Given the description of an element on the screen output the (x, y) to click on. 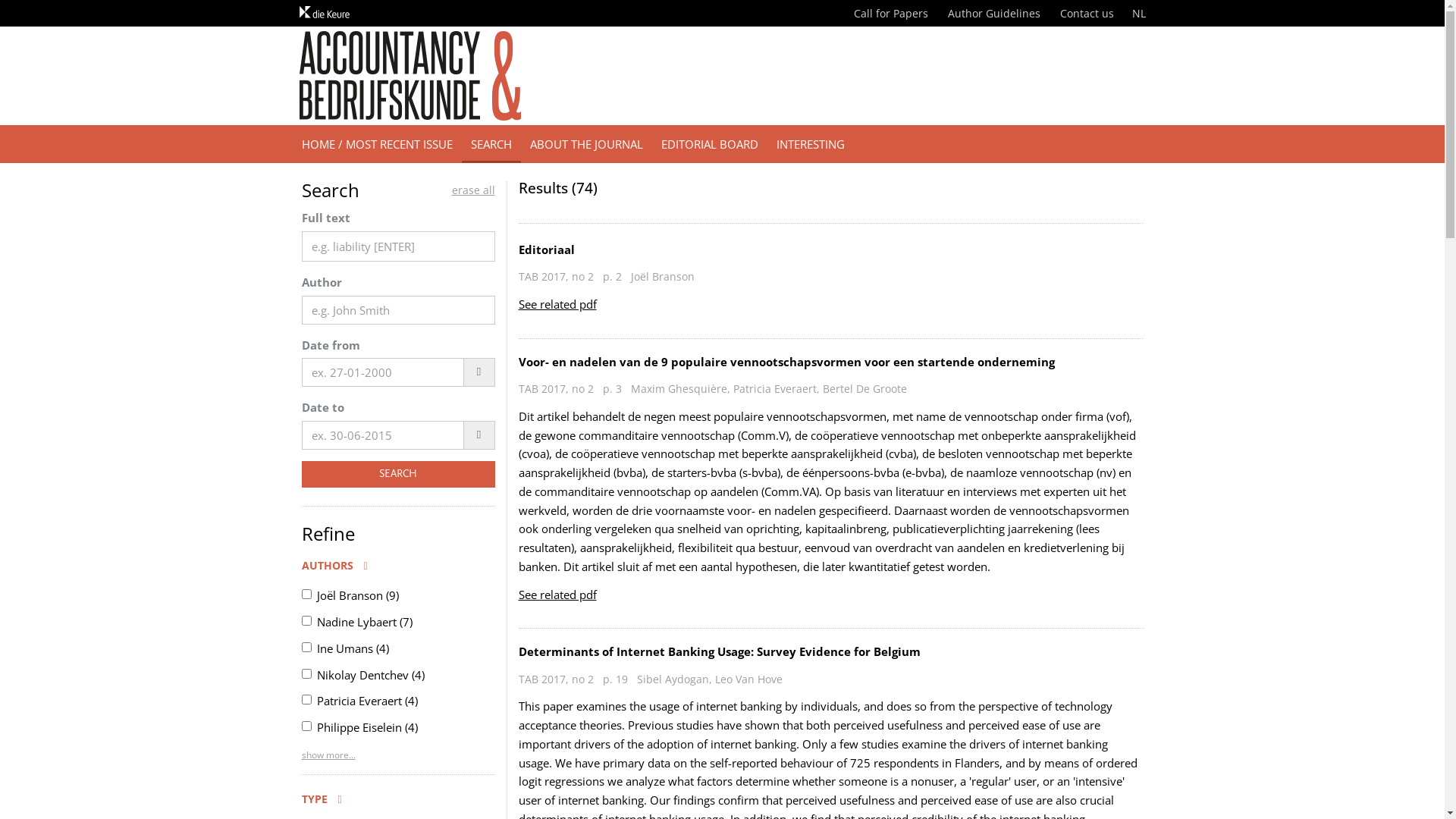
See related pdf Element type: text (557, 594)
Contact us Element type: text (1087, 13)
ABOUT THE JOURNAL Element type: text (585, 144)
Editoriaal Element type: text (546, 249)
INTERESTING Element type: text (810, 144)
show more... Element type: text (328, 754)
See related pdf Element type: text (557, 303)
HOME / MOST RECENT ISSUE Element type: text (376, 144)
Call for Papers Element type: text (890, 13)
erase all Element type: text (473, 189)
SEARCH Element type: text (398, 474)
EDITORIAL BOARD Element type: text (709, 144)
Author Guidelines Element type: text (993, 13)
NL Element type: text (1138, 13)
SEARCH Element type: text (490, 144)
